Given the description of an element on the screen output the (x, y) to click on. 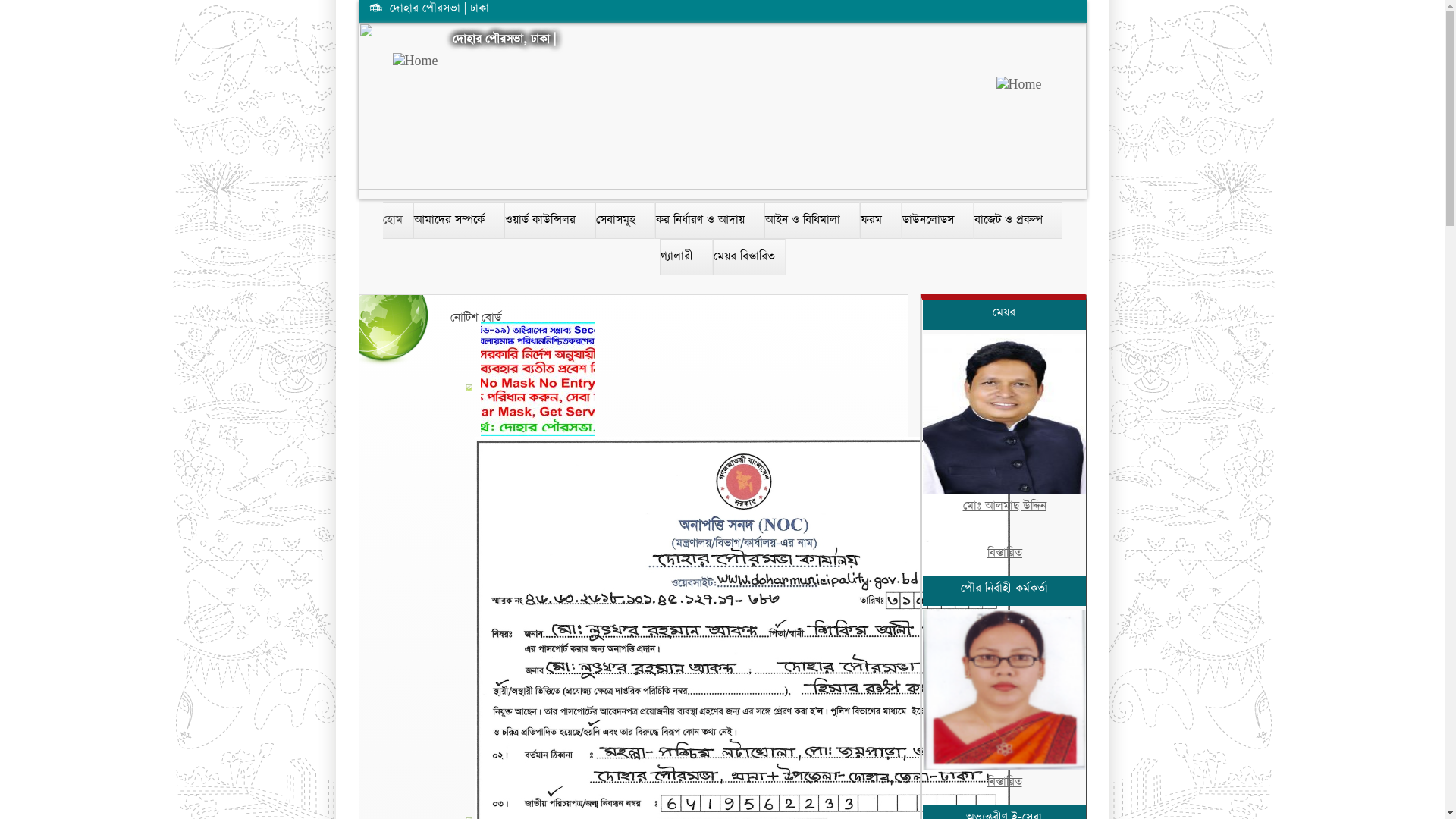
Home Element type: hover (726, 61)
Previous Element type: text (371, 103)
Next Element type: text (1071, 103)
Home Element type: hover (726, 102)
